Given the description of an element on the screen output the (x, y) to click on. 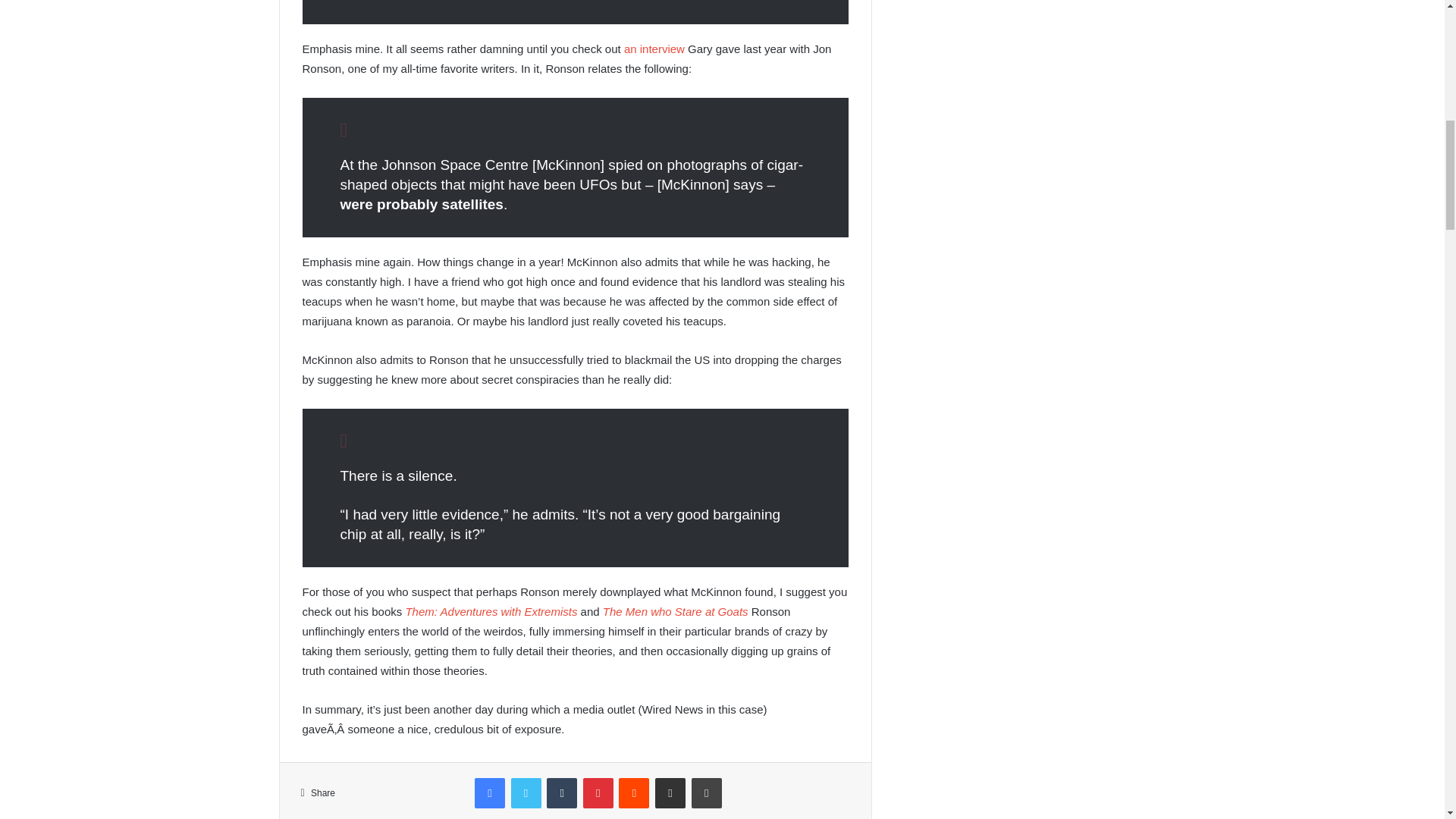
Them: Adventures with Extremists (490, 611)
Pinterest (597, 793)
Tumblr (561, 793)
Print (706, 793)
an interview (654, 48)
Reddit (633, 793)
Twitter (526, 793)
Twitter (526, 793)
Pinterest (597, 793)
Tumblr (561, 793)
The Men who Stare at Goats (675, 611)
Print (706, 793)
Facebook (489, 793)
Reddit (633, 793)
Share via Email (670, 793)
